Given the description of an element on the screen output the (x, y) to click on. 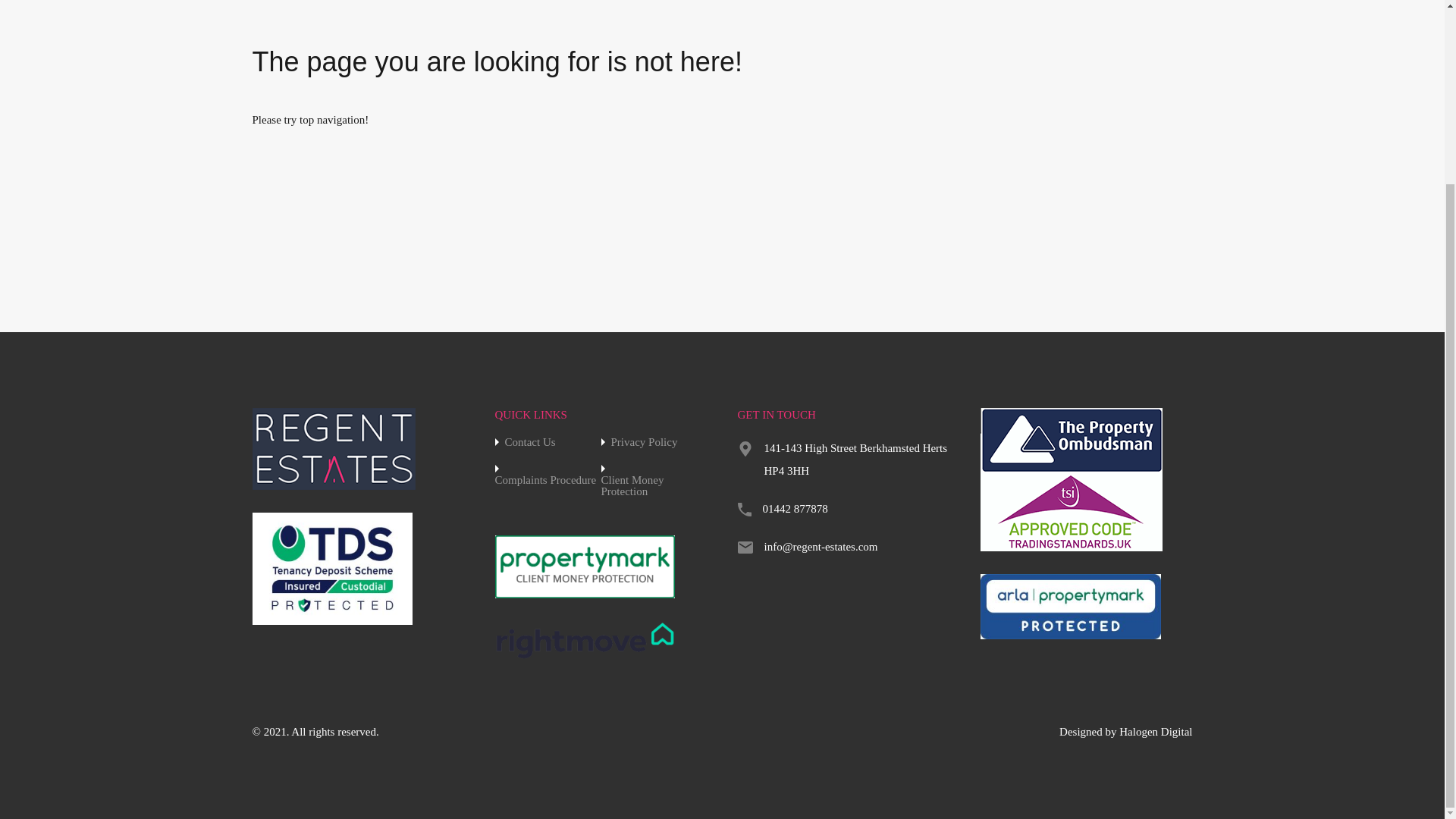
Complaints Procedure (545, 480)
Client Money Protection (652, 486)
Halogen Digital (1155, 731)
01442 877878 (795, 508)
Contact Us (530, 441)
Privacy Policy (644, 441)
